Given the description of an element on the screen output the (x, y) to click on. 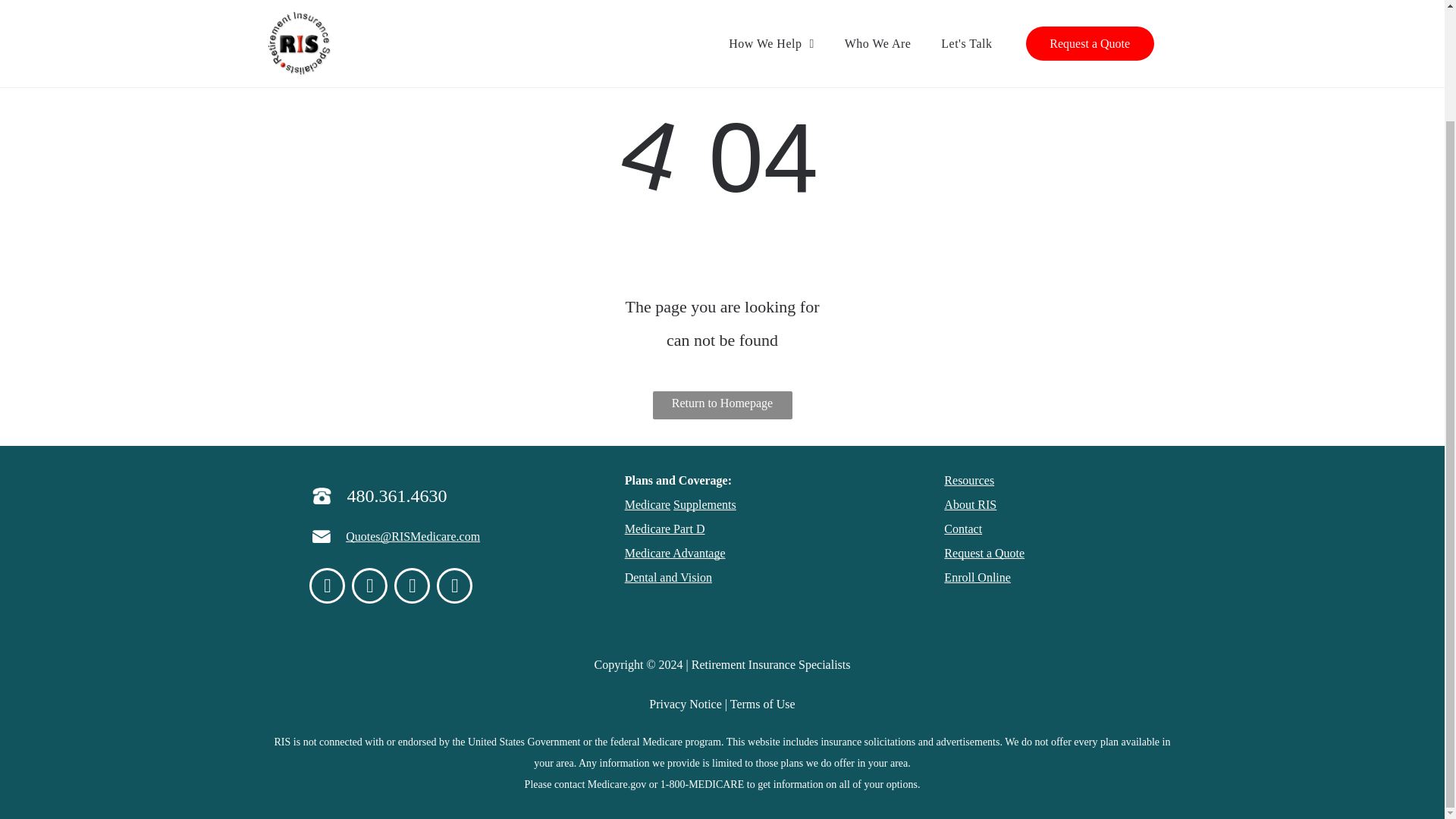
About RIS (969, 504)
Return to Homepage (722, 405)
Resources (968, 480)
Contact (962, 528)
Supplements (704, 504)
Medicare (646, 504)
Request a Quote (984, 553)
Enroll Online (976, 576)
Dental and Vision (667, 576)
Medicare Advantage (674, 553)
Medicare Part D (664, 528)
